Given the description of an element on the screen output the (x, y) to click on. 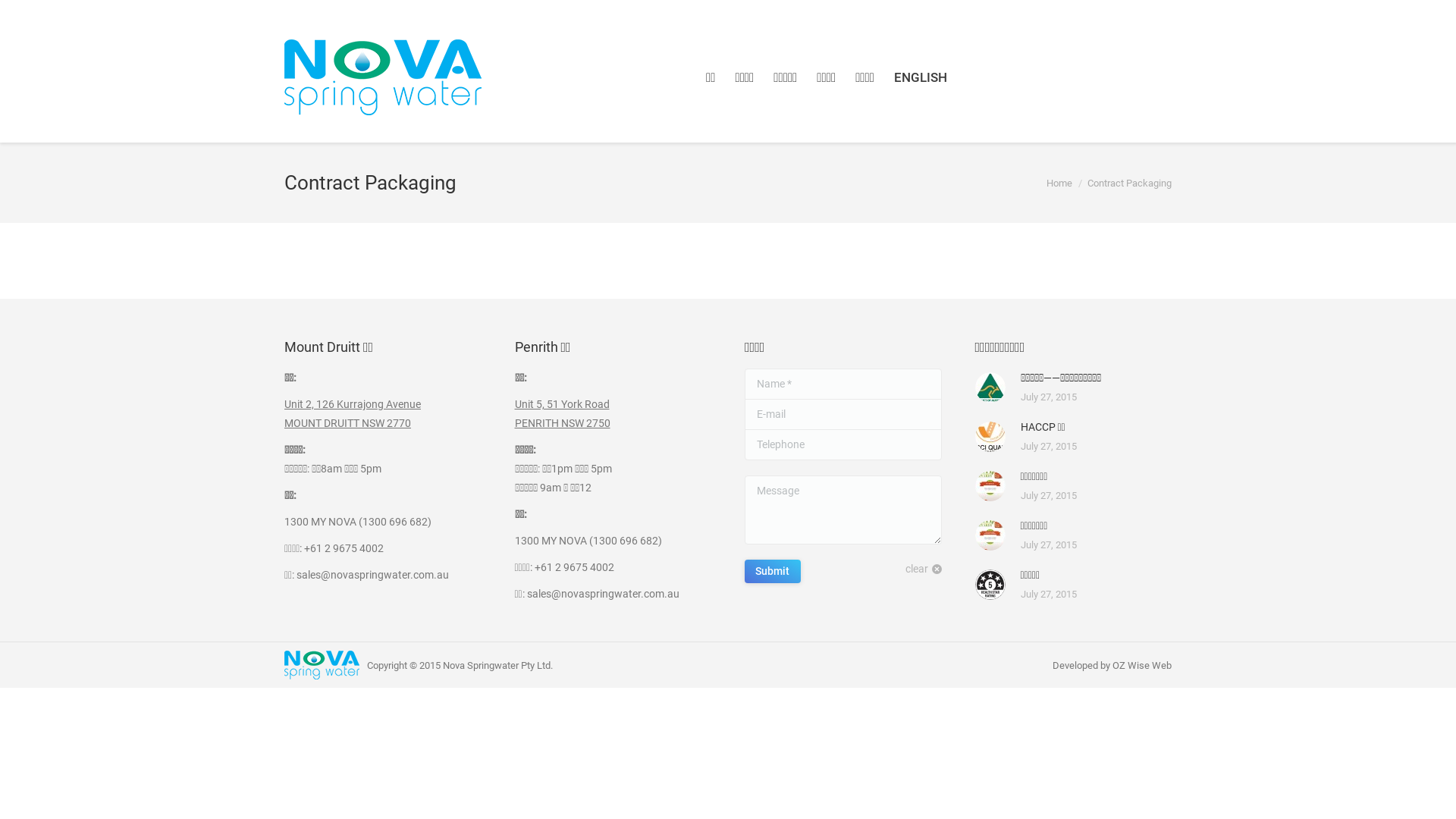
Submit Element type: text (772, 571)
Unit 5, 51 York Road Element type: text (561, 404)
Unit 2, 126 Kurrajong Avenue Element type: text (352, 404)
MOUNT DRUITT NSW 2770 Element type: text (347, 423)
submit Element type: text (837, 574)
clear Element type: text (923, 568)
Home Element type: text (1059, 182)
ENGLISH Element type: text (920, 77)
OZ Wise Web Element type: text (1141, 665)
PENRITH NSW 2750 Element type: text (561, 423)
